Given the description of an element on the screen output the (x, y) to click on. 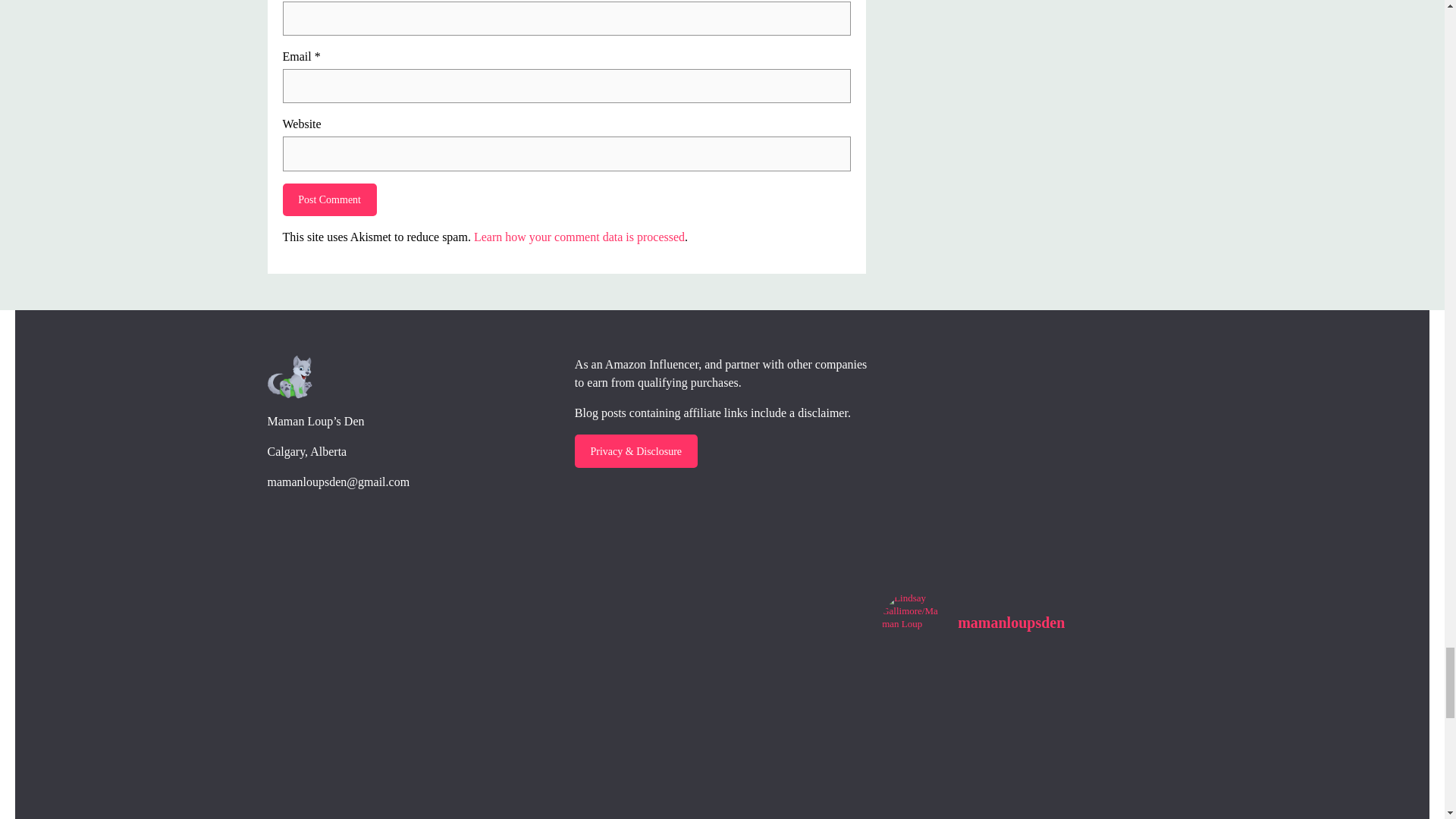
Post Comment (328, 200)
